Given the description of an element on the screen output the (x, y) to click on. 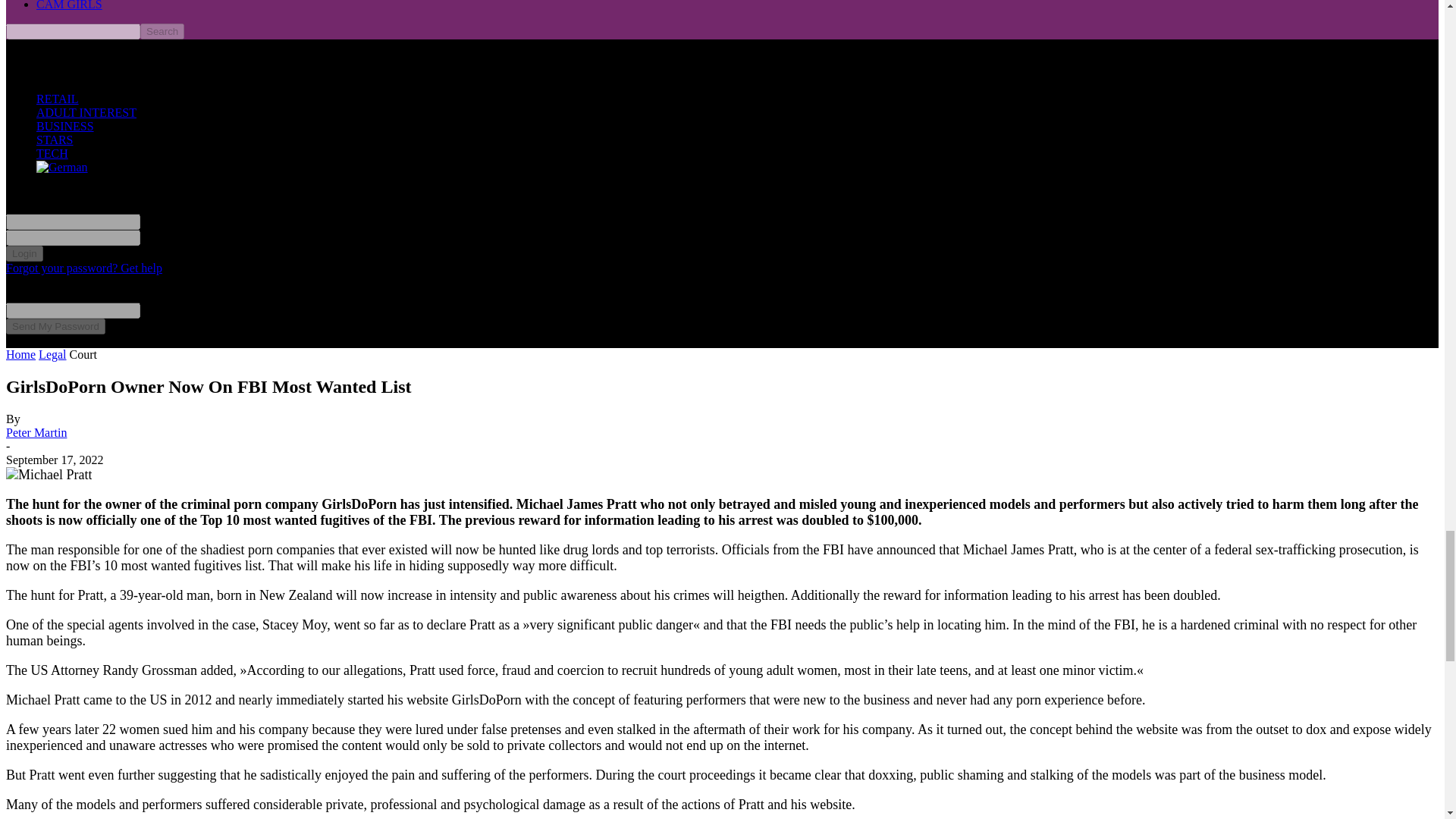
Search (161, 31)
Login (24, 253)
Send My Password (54, 326)
